Given the description of an element on the screen output the (x, y) to click on. 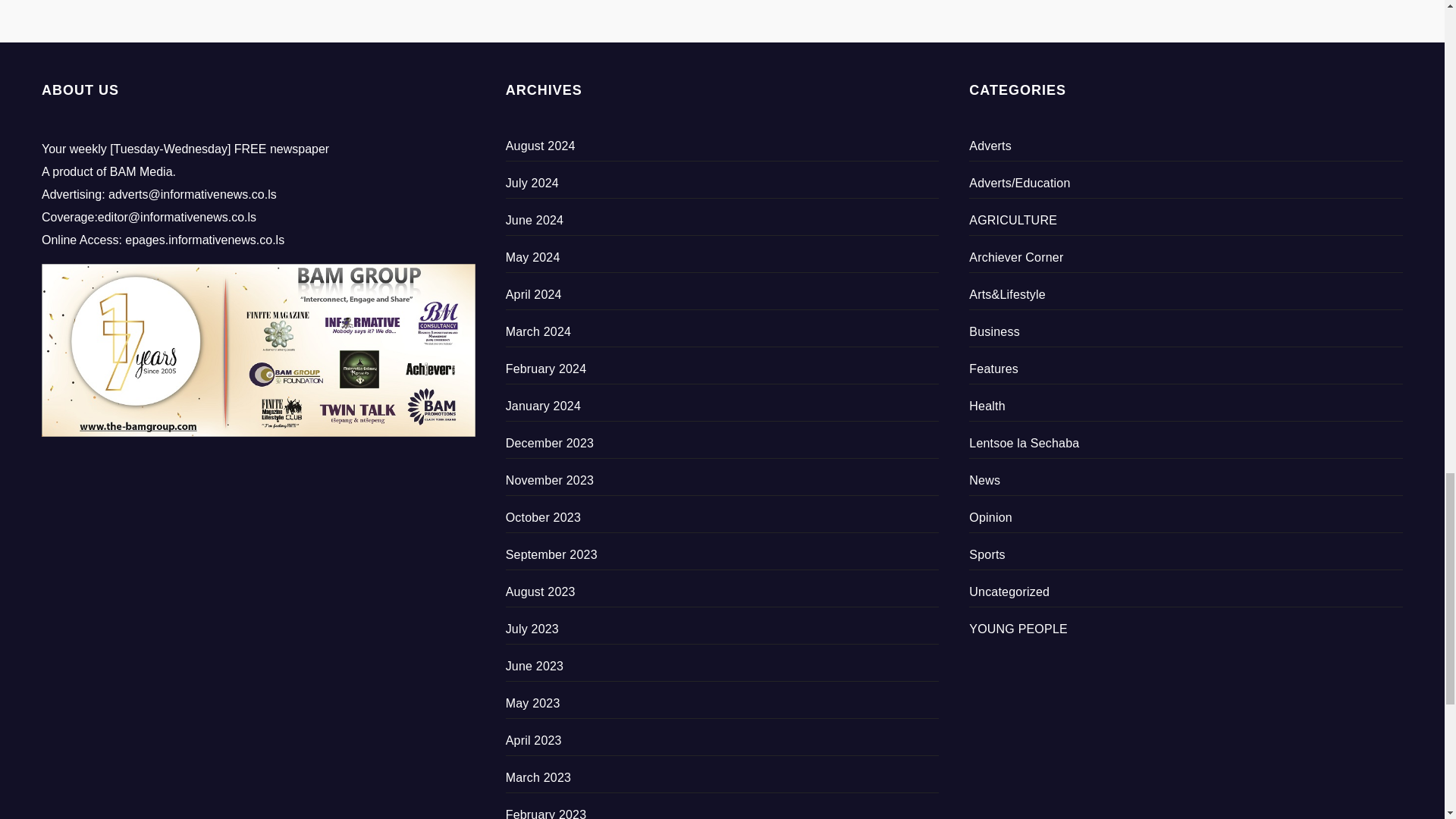
August 2024 (540, 145)
July 2024 (532, 182)
June 2024 (534, 219)
May 2024 (532, 256)
April 2024 (533, 294)
